Given the description of an element on the screen output the (x, y) to click on. 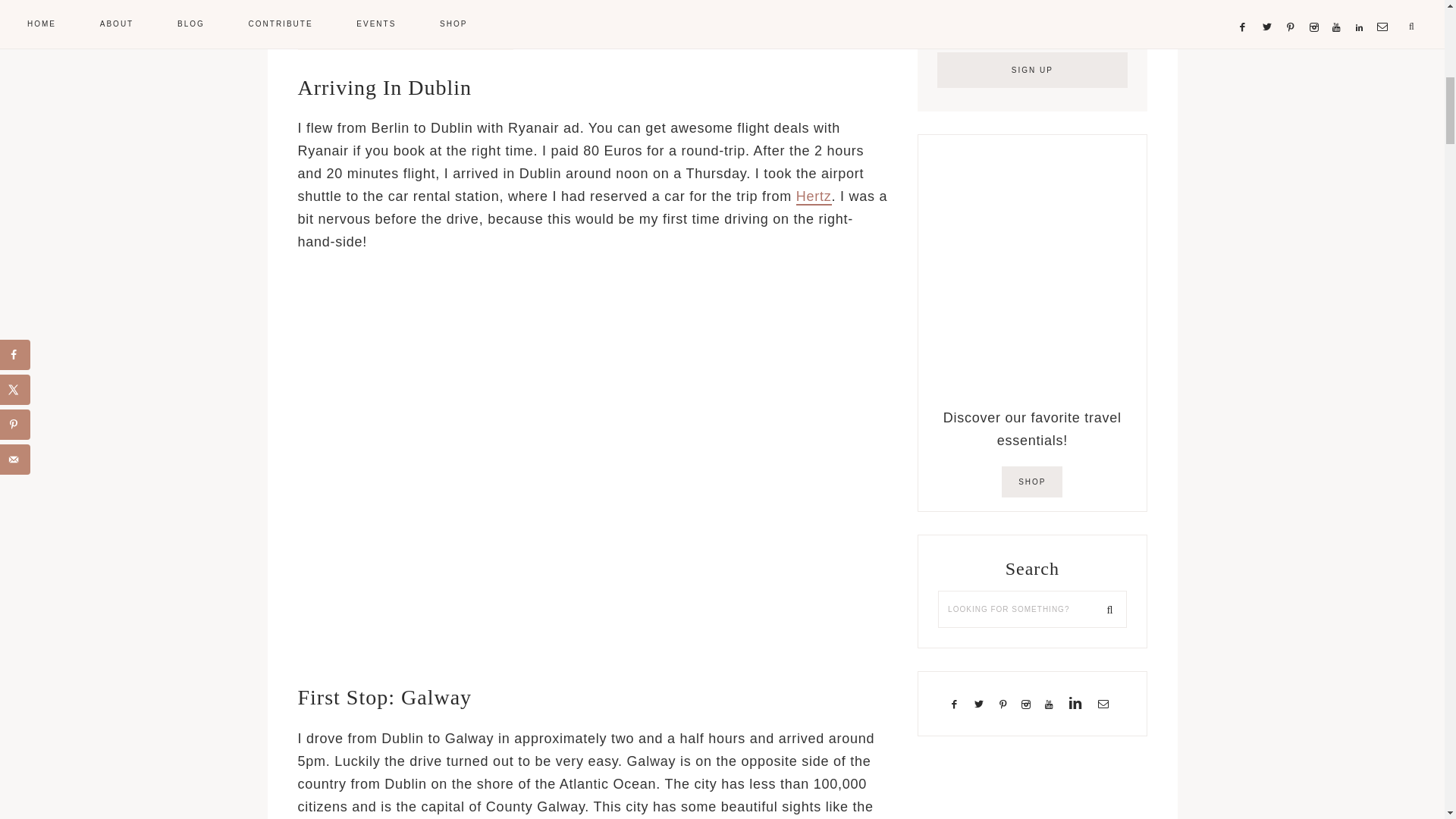
Sign Up (1031, 69)
